Given the description of an element on the screen output the (x, y) to click on. 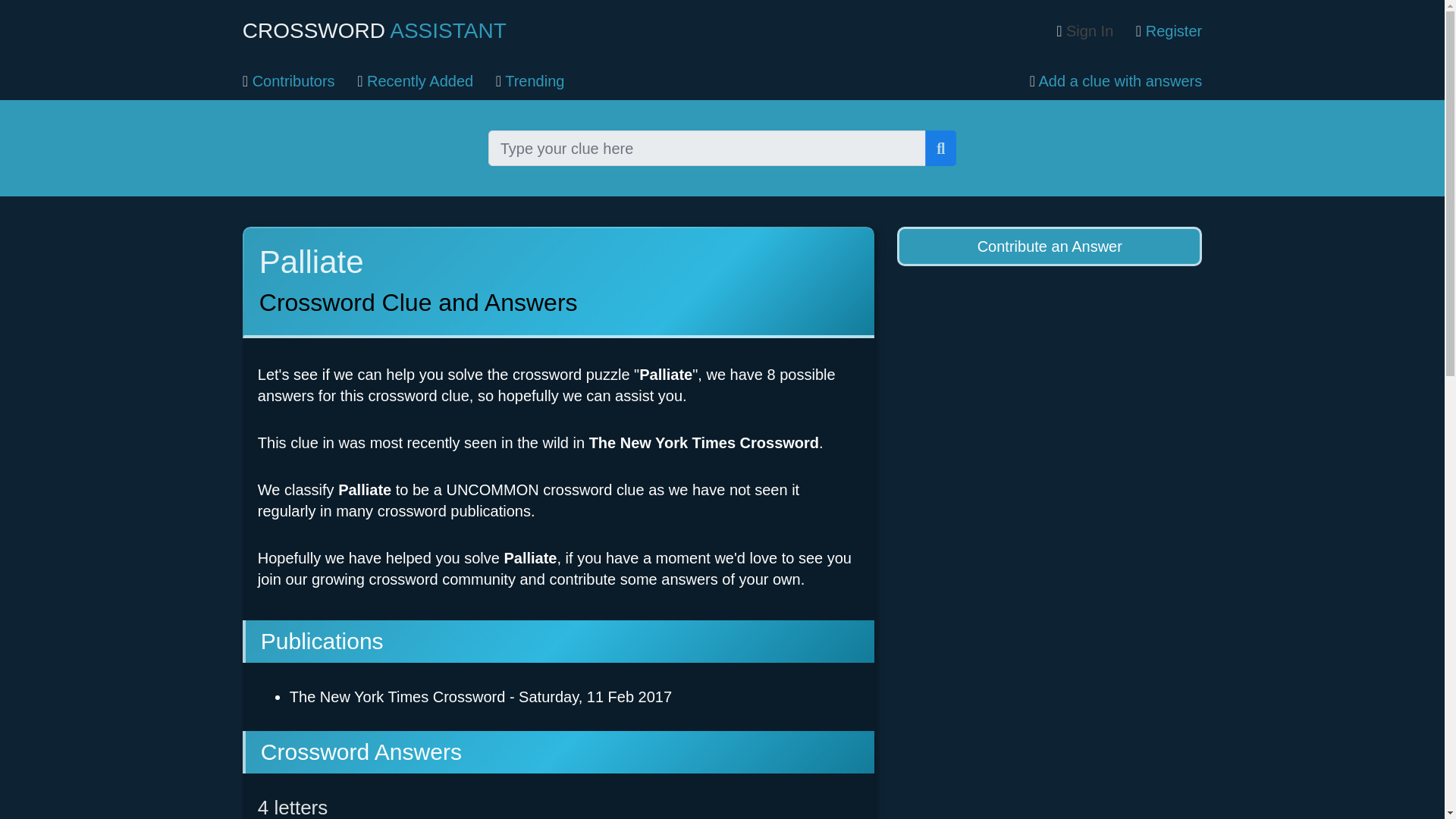
A list of clues that are currently trending (530, 80)
Palliate Crossword Clue (364, 489)
Recently Added (414, 80)
Sign In (1085, 30)
Type or paste your clue here (706, 148)
Register (1168, 30)
A list of recently added crossword clues (414, 80)
Contribute an Answer (1049, 246)
See our top contributors (288, 80)
Sign In (1085, 30)
CROSSWORD ASSISTANT (374, 30)
Add a crossword clue to our site (1049, 80)
Contributors (288, 80)
Crossword Assistant (374, 30)
Palliate (559, 282)
